Given the description of an element on the screen output the (x, y) to click on. 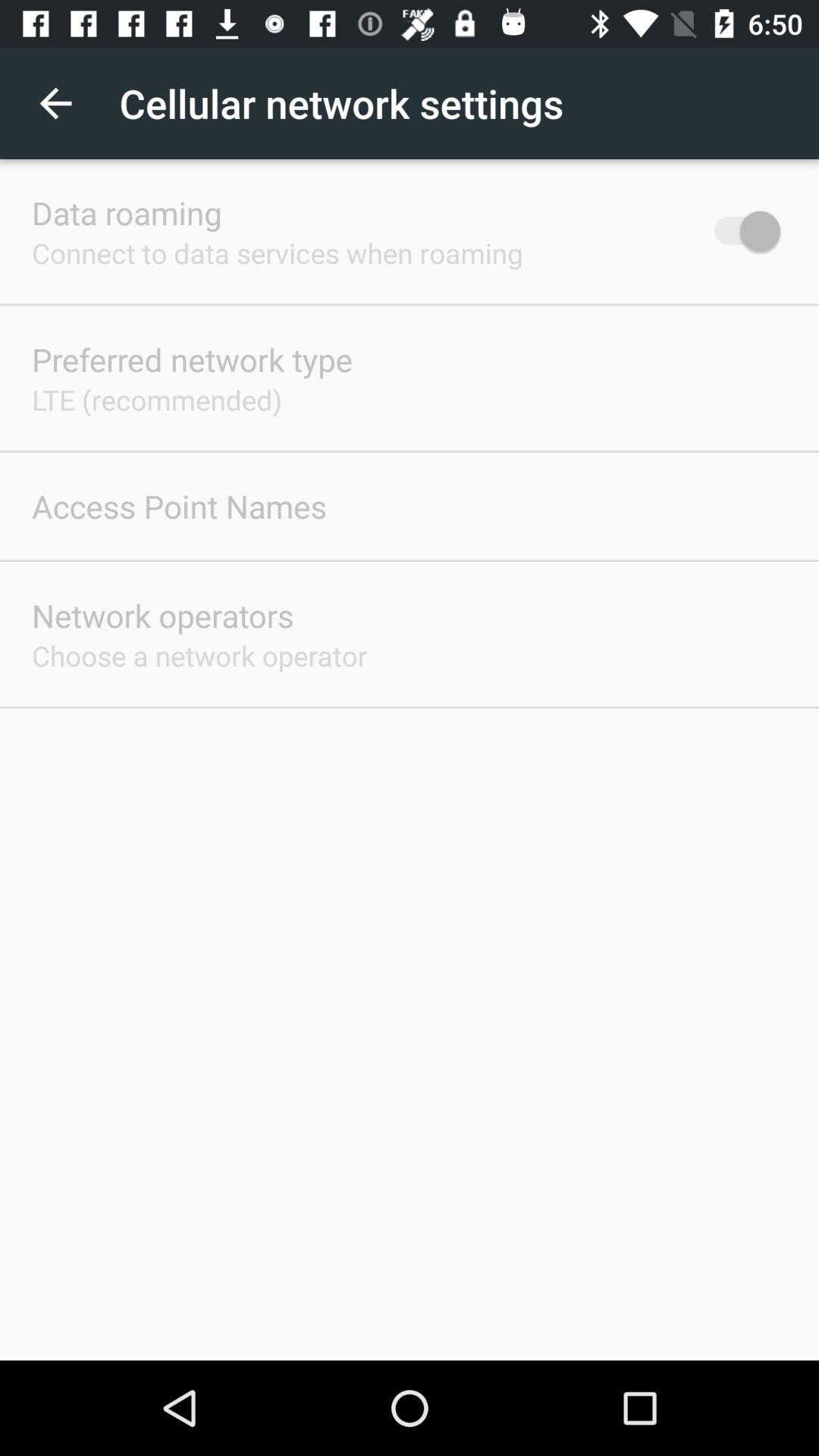
scroll until the access point names icon (179, 505)
